Given the description of an element on the screen output the (x, y) to click on. 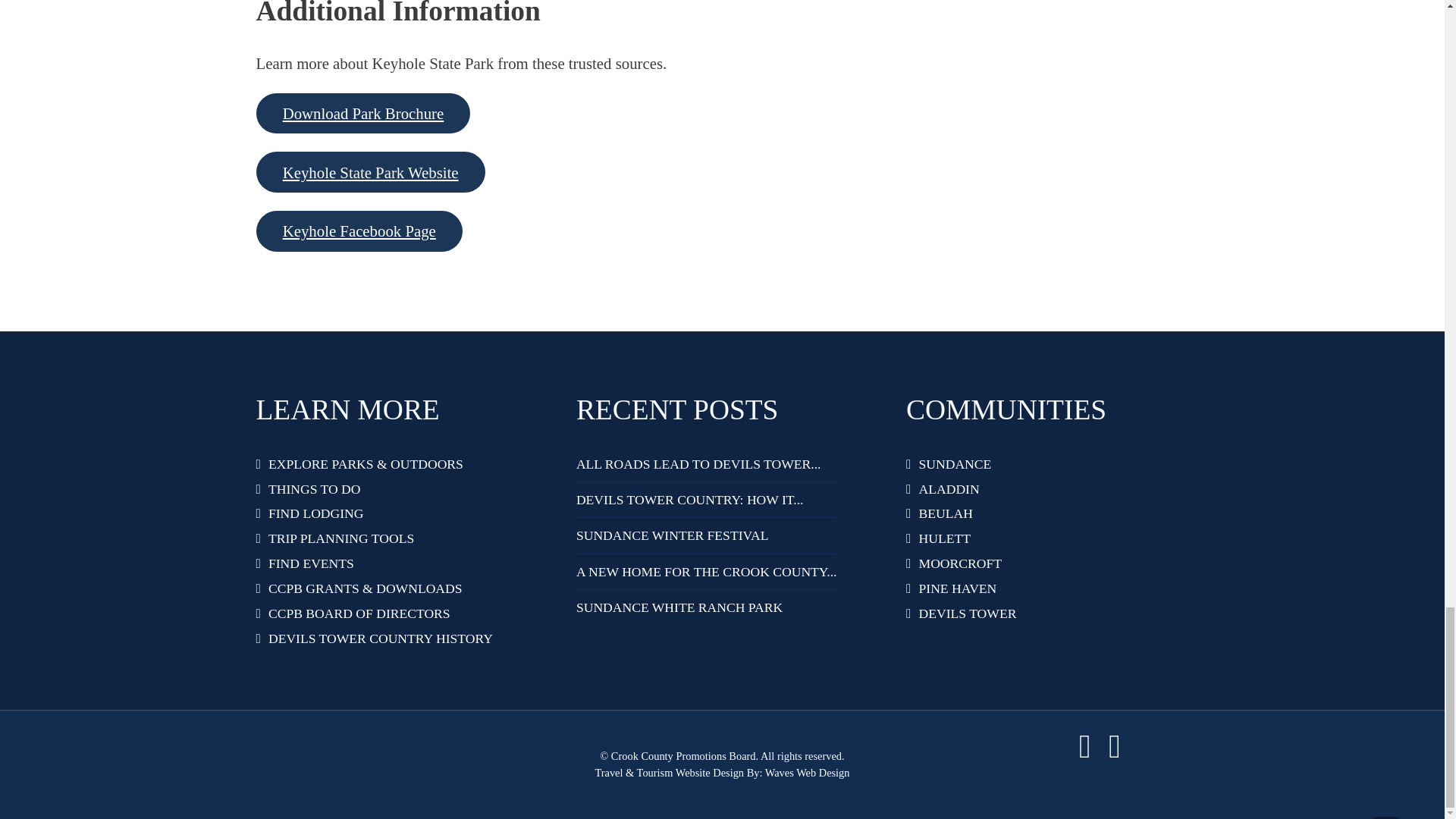
Keyhole State Park Website (370, 171)
Keyhole Facebook Page (359, 230)
Download Park Brochure (363, 113)
Crook County Promotions Board (684, 756)
